Given the description of an element on the screen output the (x, y) to click on. 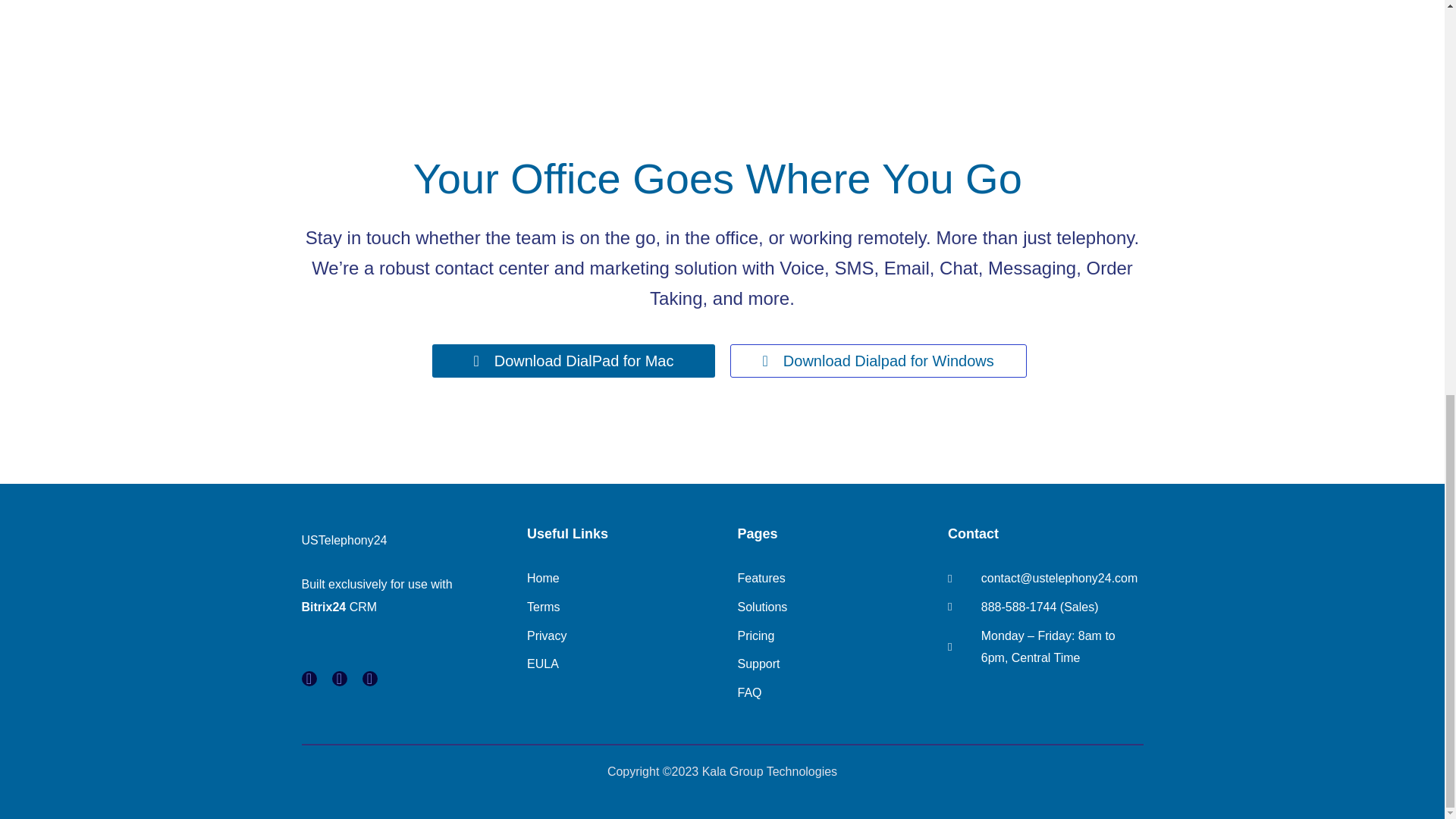
EULA (624, 663)
Facebook (309, 678)
Solutions (834, 607)
FAQ (834, 692)
Terms (624, 607)
Instagram (369, 678)
Pricing (834, 635)
Home (624, 578)
Support (834, 663)
Linkedin (339, 678)
